Given the description of an element on the screen output the (x, y) to click on. 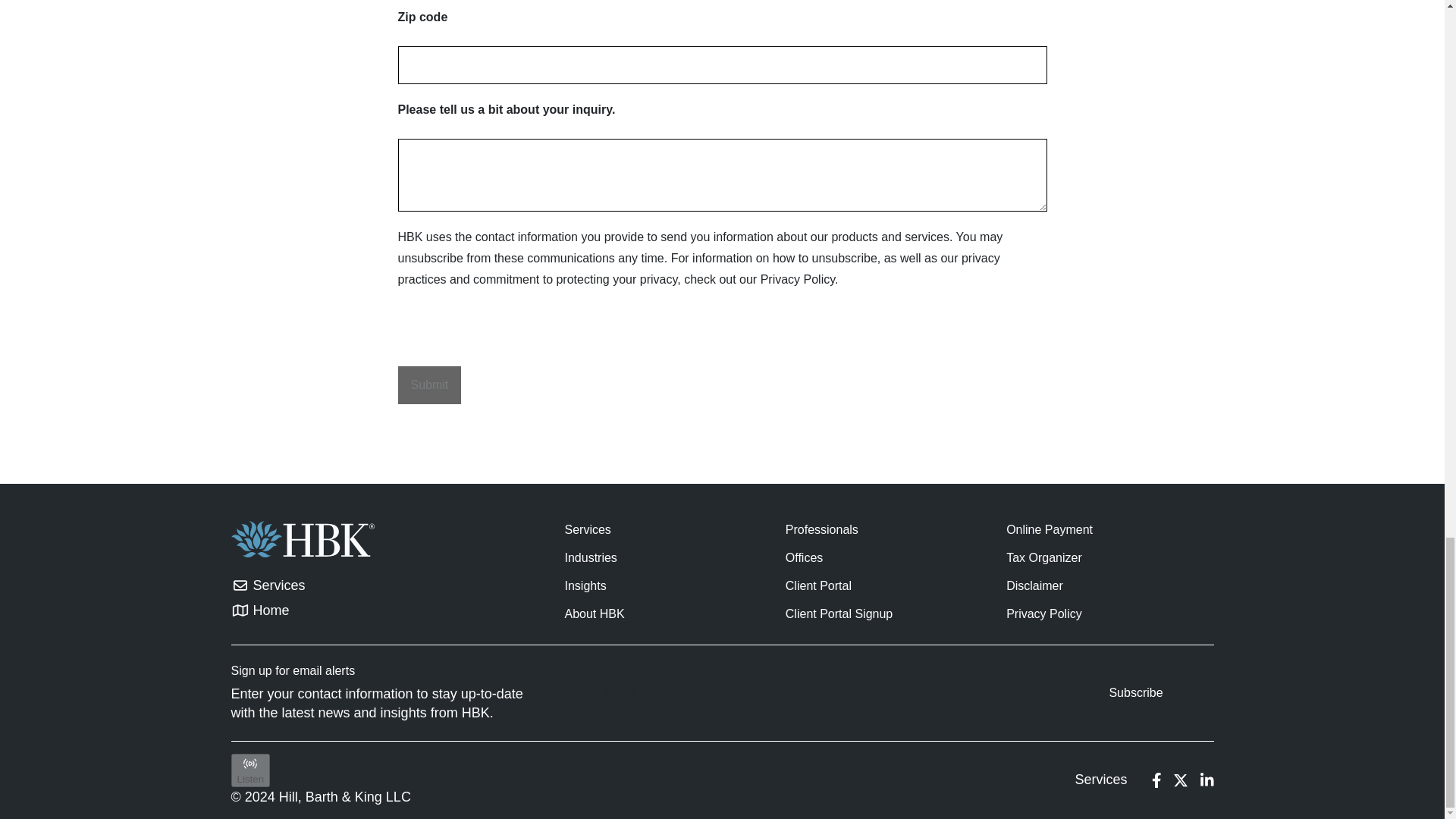
Offices (805, 557)
Professionals (822, 529)
Home (267, 610)
Services (1100, 779)
Privacy Policy (1043, 613)
Services (587, 529)
Subscribe (1135, 693)
Client Portal (818, 585)
Disclaimer (1034, 585)
Tax Organizer (1043, 557)
Online Payment (1049, 529)
Home (267, 610)
Subscribe (1135, 693)
Services (267, 585)
Client Portal Signup (839, 613)
